Given the description of an element on the screen output the (x, y) to click on. 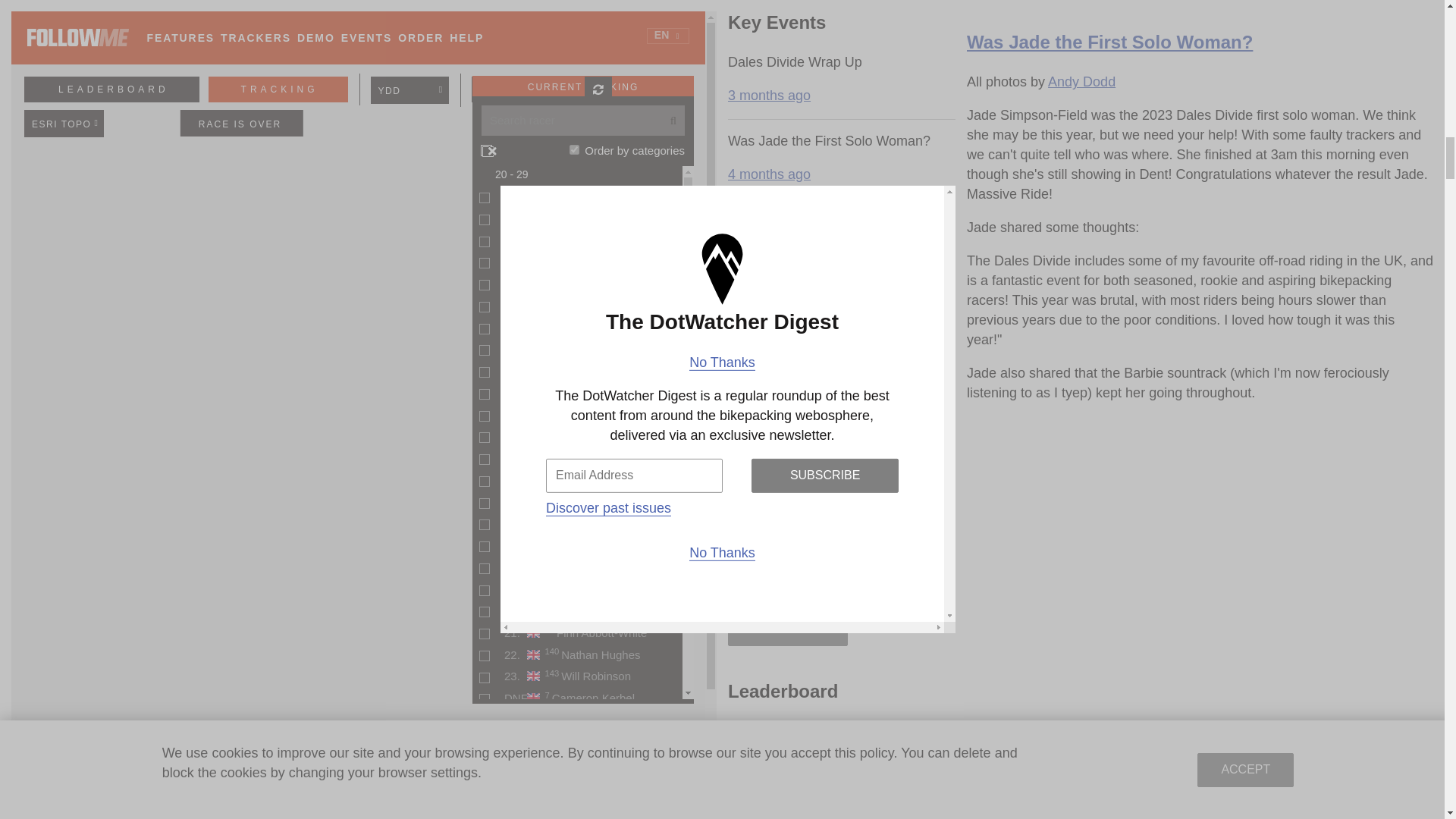
Was Jade the First Solo Woman? (1109, 41)
Andy Dodd (1081, 81)
Was Jade the First Solo Woman? (1199, 15)
Was Jade the First Solo Woman? (1109, 41)
